Given the description of an element on the screen output the (x, y) to click on. 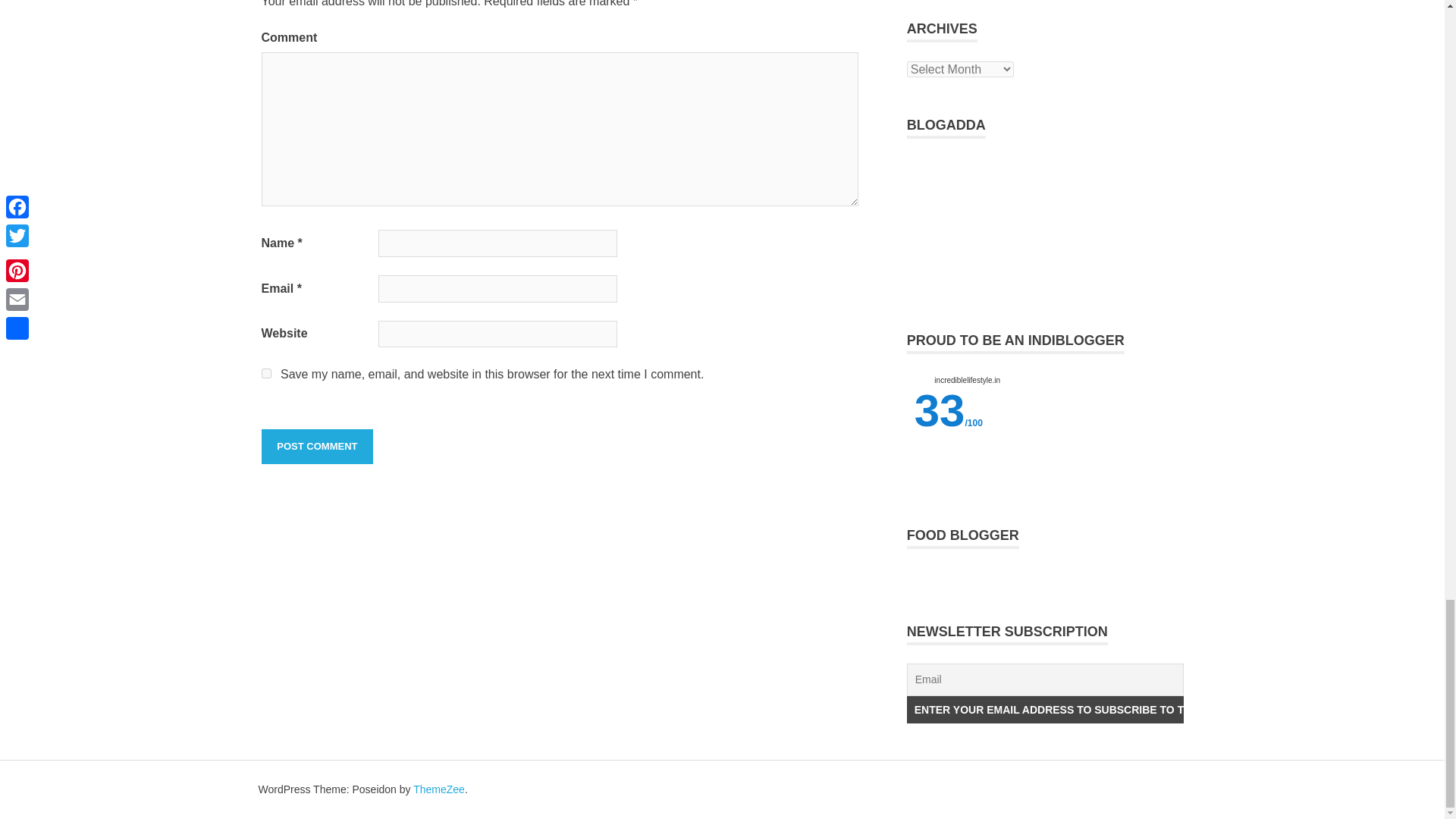
Post Comment (316, 446)
yes (265, 373)
